Given the description of an element on the screen output the (x, y) to click on. 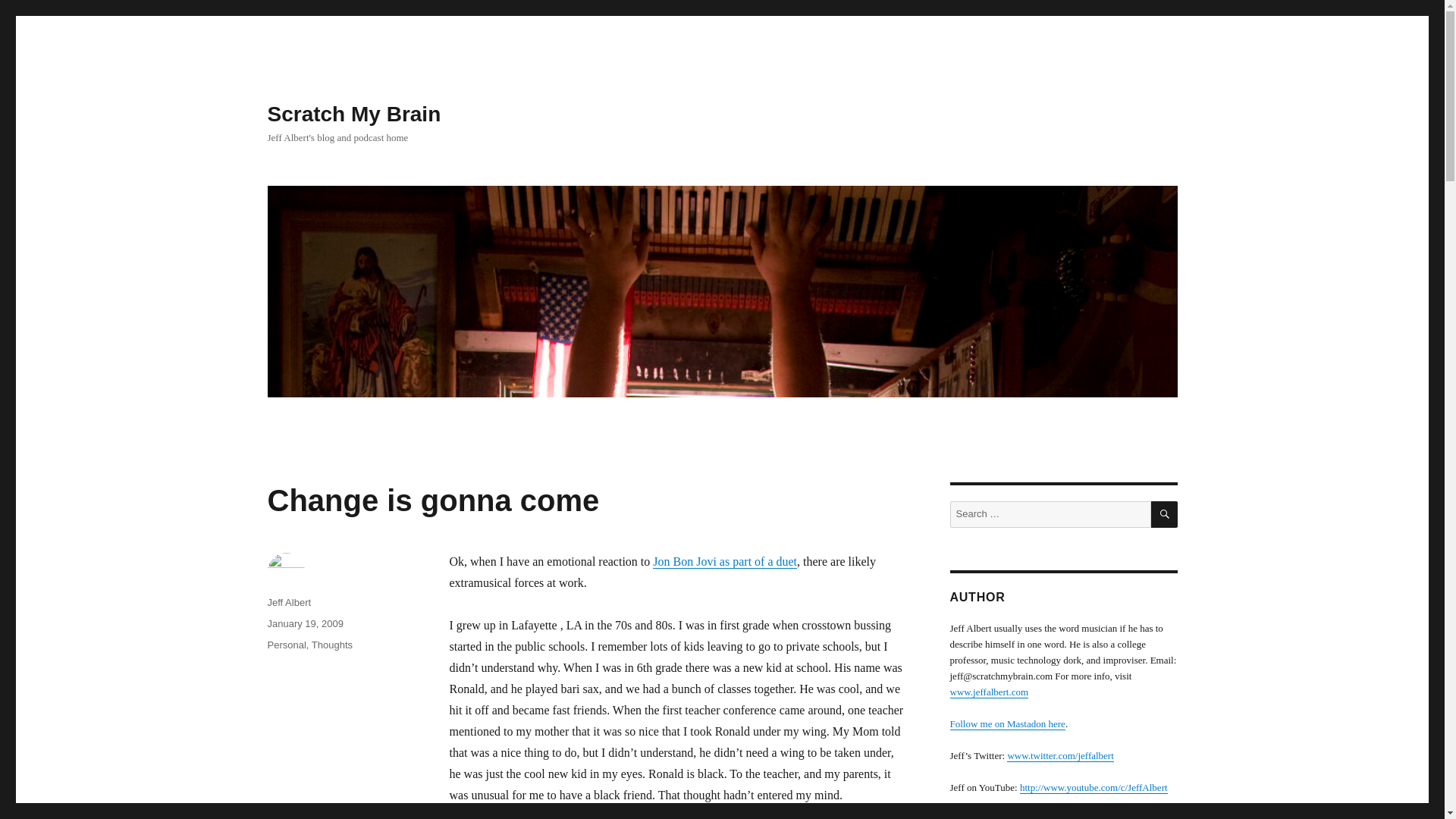
Jeff Albert (288, 602)
January 19, 2009 (304, 623)
Follow me on Mastadon here (1006, 723)
Scratch My Brain (353, 114)
Thoughts (331, 644)
SEARCH (1164, 514)
www.jeffalbert.com (988, 691)
Jon Bon Jovi as part of a duet (724, 561)
Personal (285, 644)
